Given the description of an element on the screen output the (x, y) to click on. 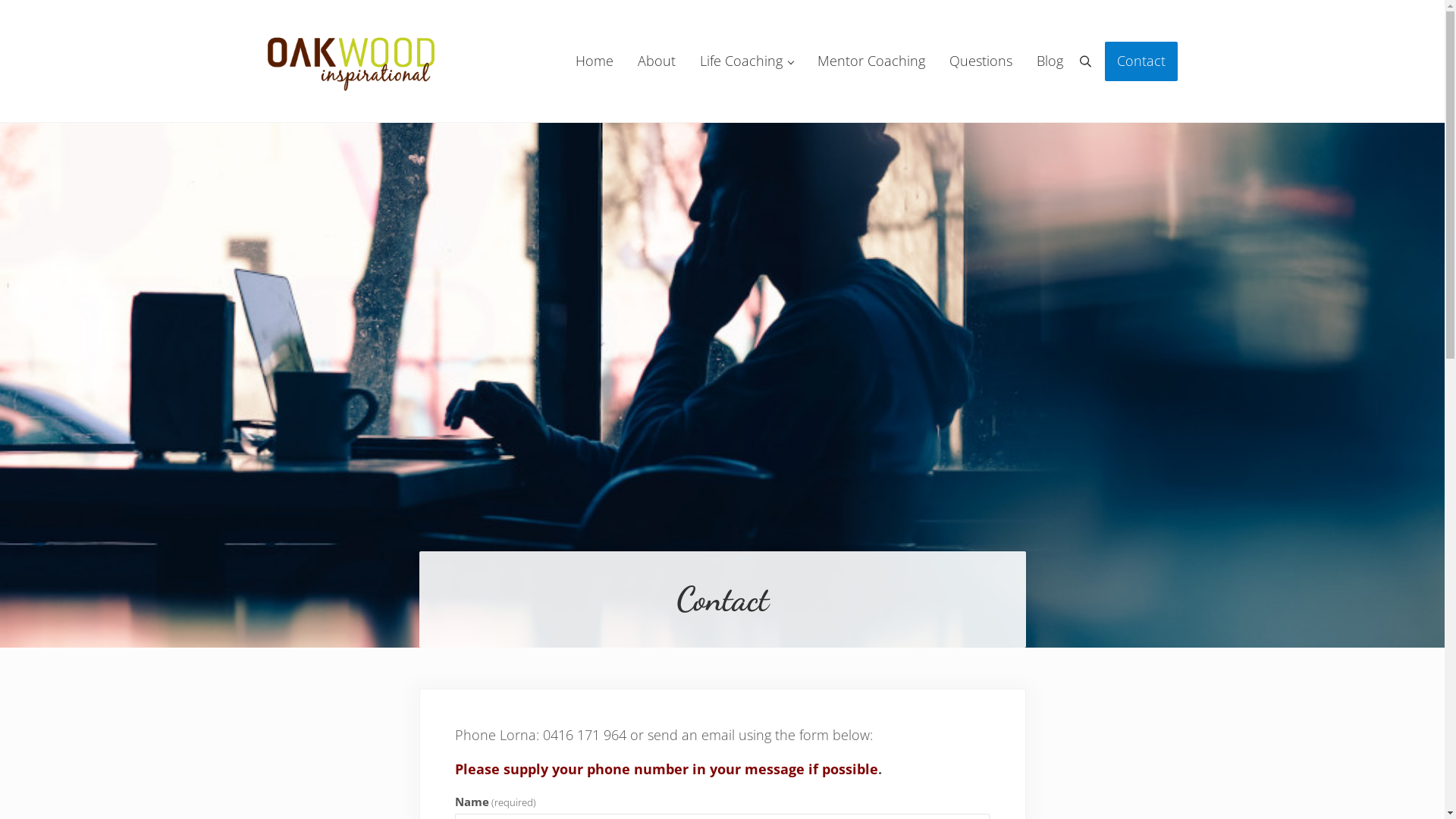
Search Element type: text (1085, 61)
Blog Element type: text (1048, 60)
Contact Element type: text (1140, 61)
Skip to main content Element type: text (0, 0)
Home Element type: text (593, 60)
About Element type: text (655, 60)
Life Coaching Element type: text (745, 60)
Mentor Coaching Element type: text (871, 60)
Questions Element type: text (980, 60)
